Given the description of an element on the screen output the (x, y) to click on. 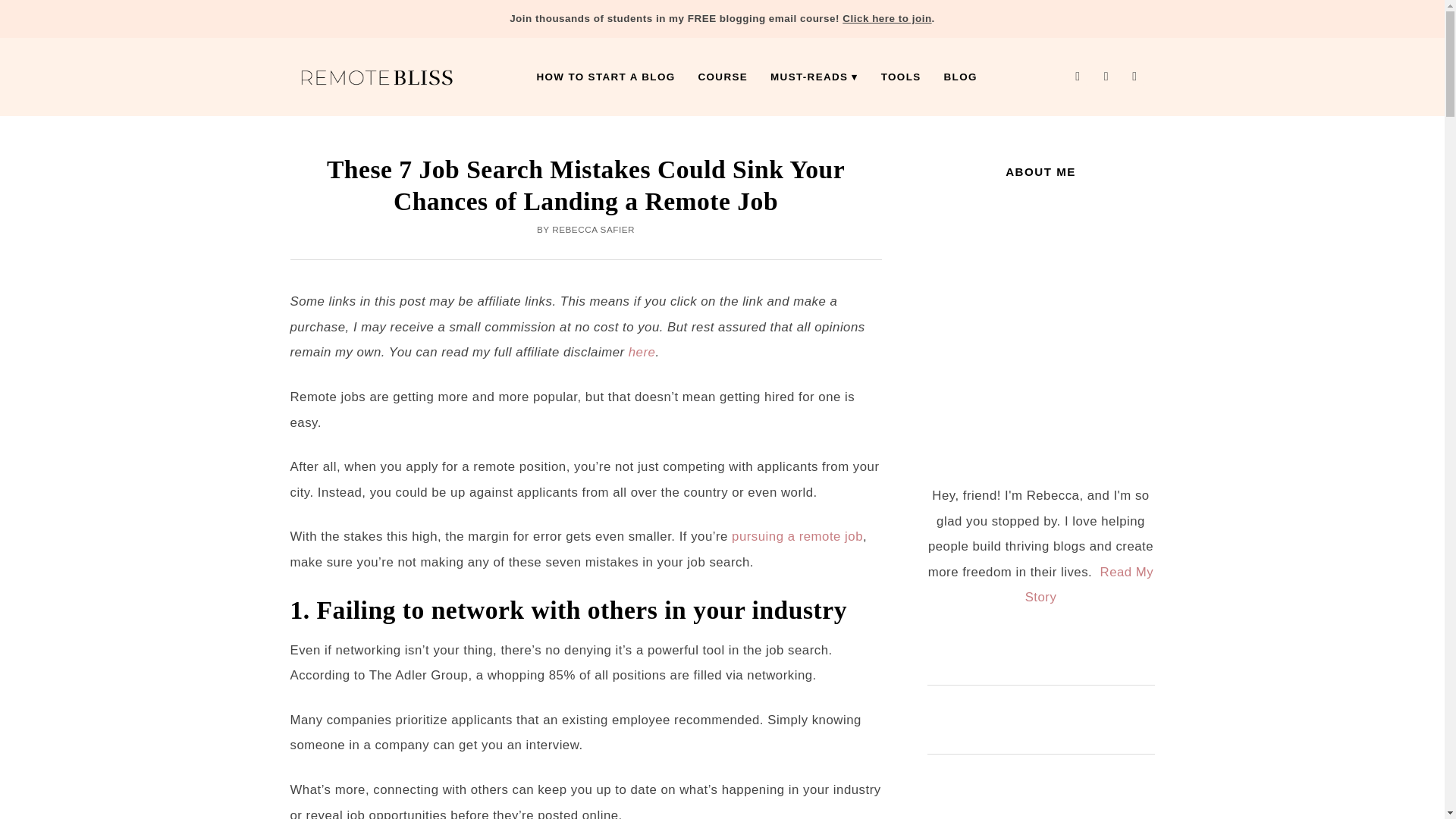
here (642, 351)
BLOG (960, 76)
HOW TO START A BLOG (604, 76)
TOOLS (901, 76)
COURSE (723, 76)
Click here to join (887, 18)
pursuing a remote job (797, 536)
MUST-READS (813, 76)
